Given the description of an element on the screen output the (x, y) to click on. 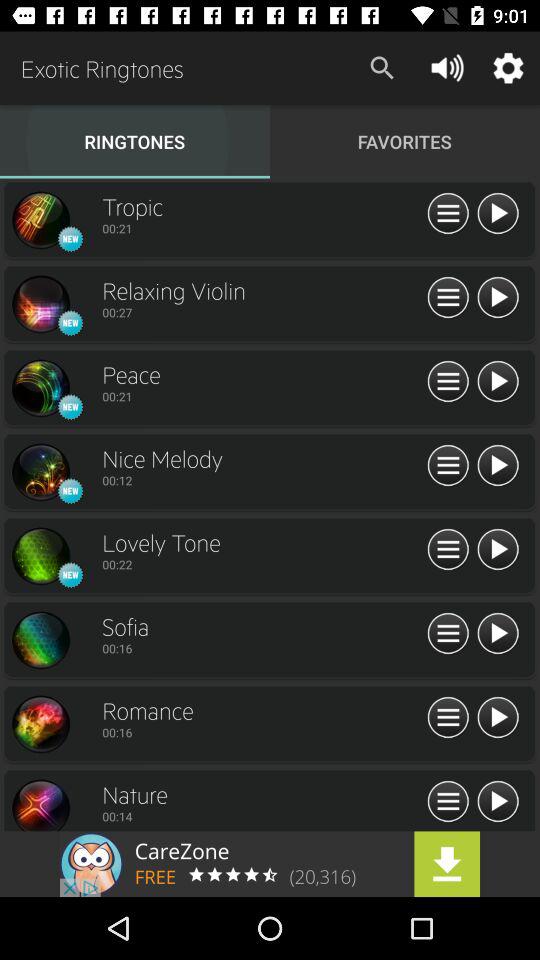
play song (497, 801)
